Given the description of an element on the screen output the (x, y) to click on. 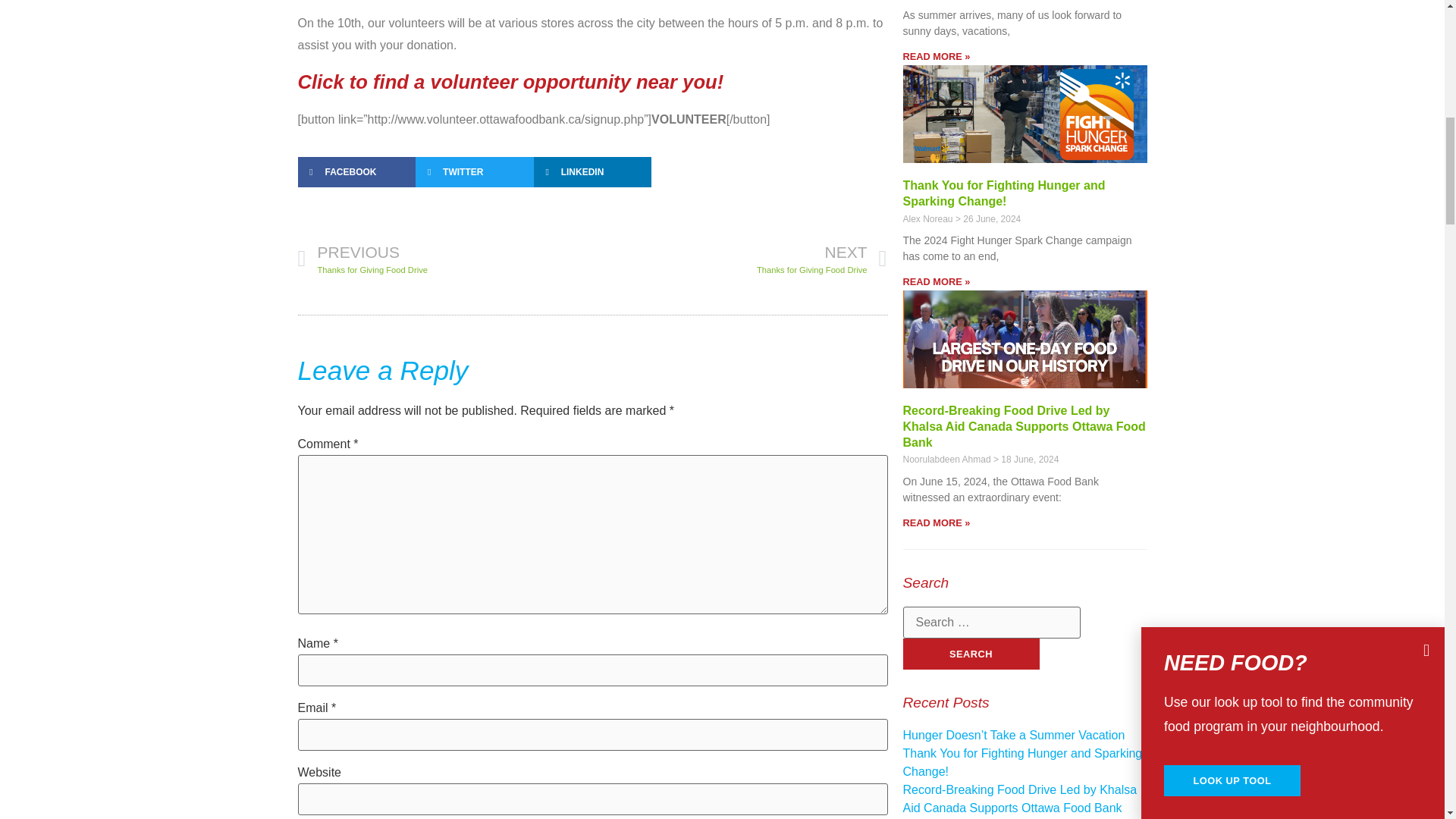
Search (970, 653)
Search (970, 653)
